Given the description of an element on the screen output the (x, y) to click on. 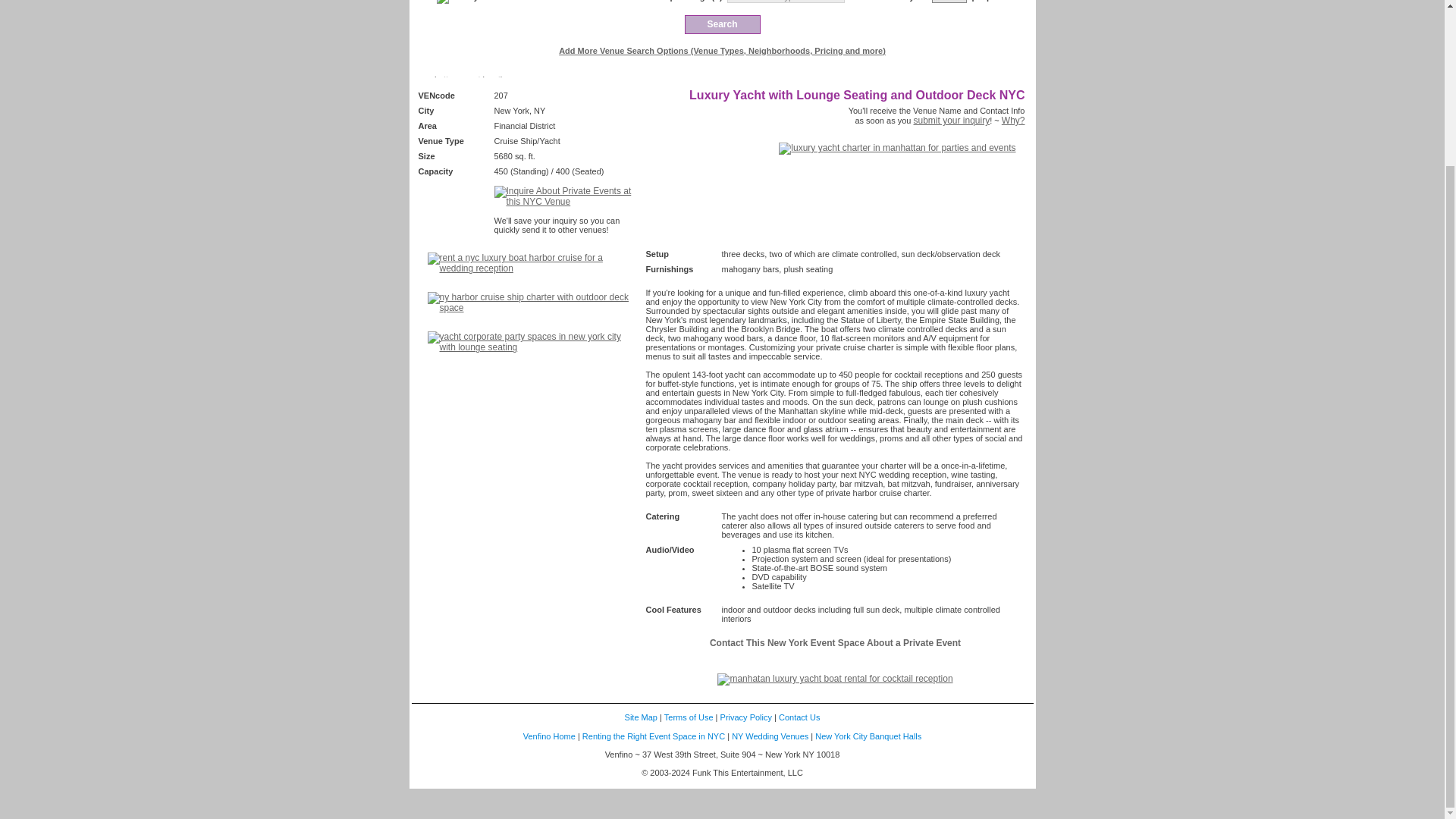
Privacy Policy (745, 716)
Terms of Use (688, 716)
Site Map (641, 716)
Renting the Right Event Space in NYC (653, 736)
Venfino Home (548, 736)
Why? (1013, 120)
Search (722, 24)
3 tips on renting unique party venues in new york (653, 736)
Contact Us (798, 716)
